Given the description of an element on the screen output the (x, y) to click on. 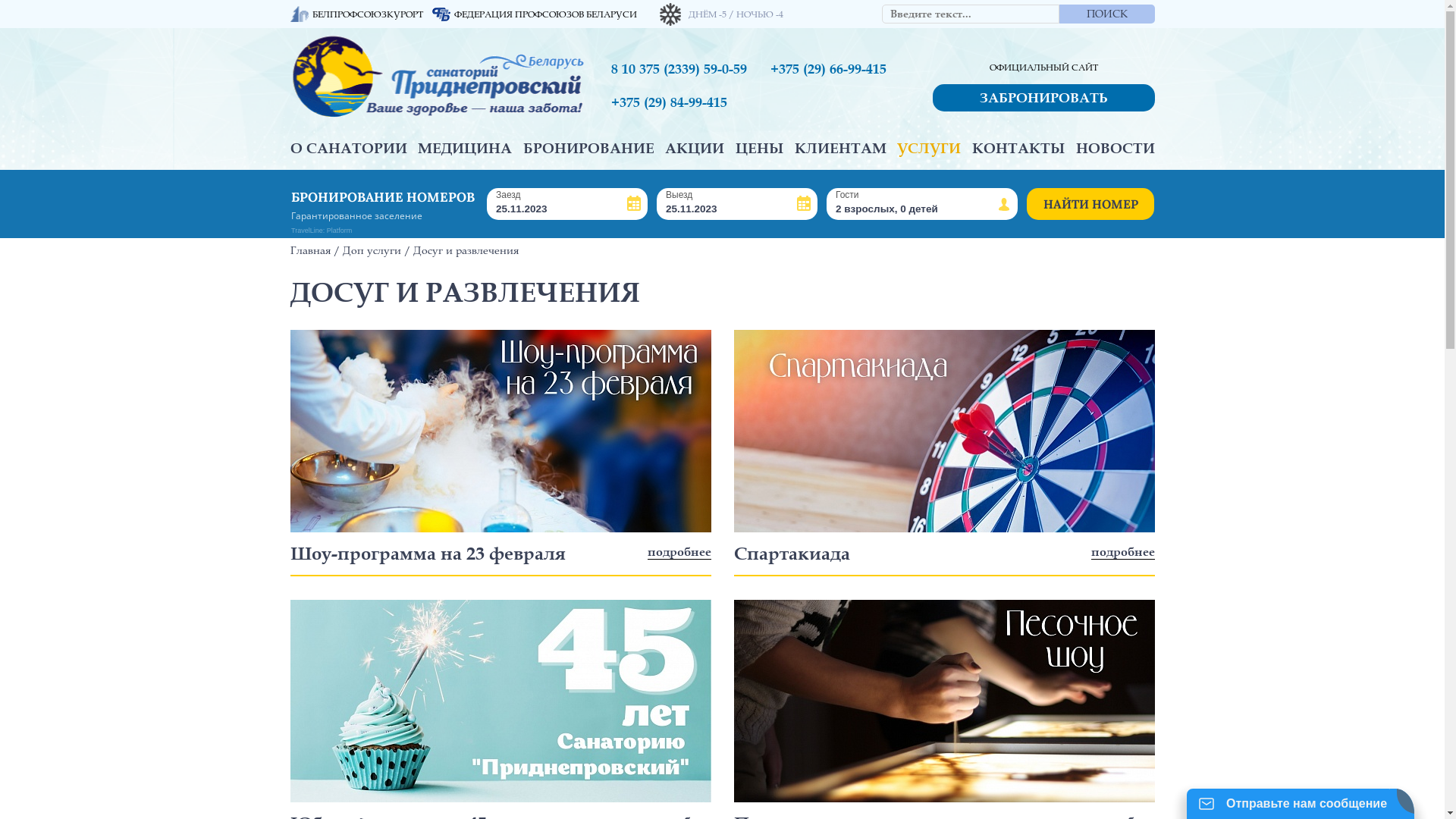
+375 (29) 84-99-415 Element type: text (679, 102)
8 10 375 (2339) 59-0-59 Element type: text (679, 68)
+375 (29) 66-99-415 Element type: text (838, 68)
